Given the description of an element on the screen output the (x, y) to click on. 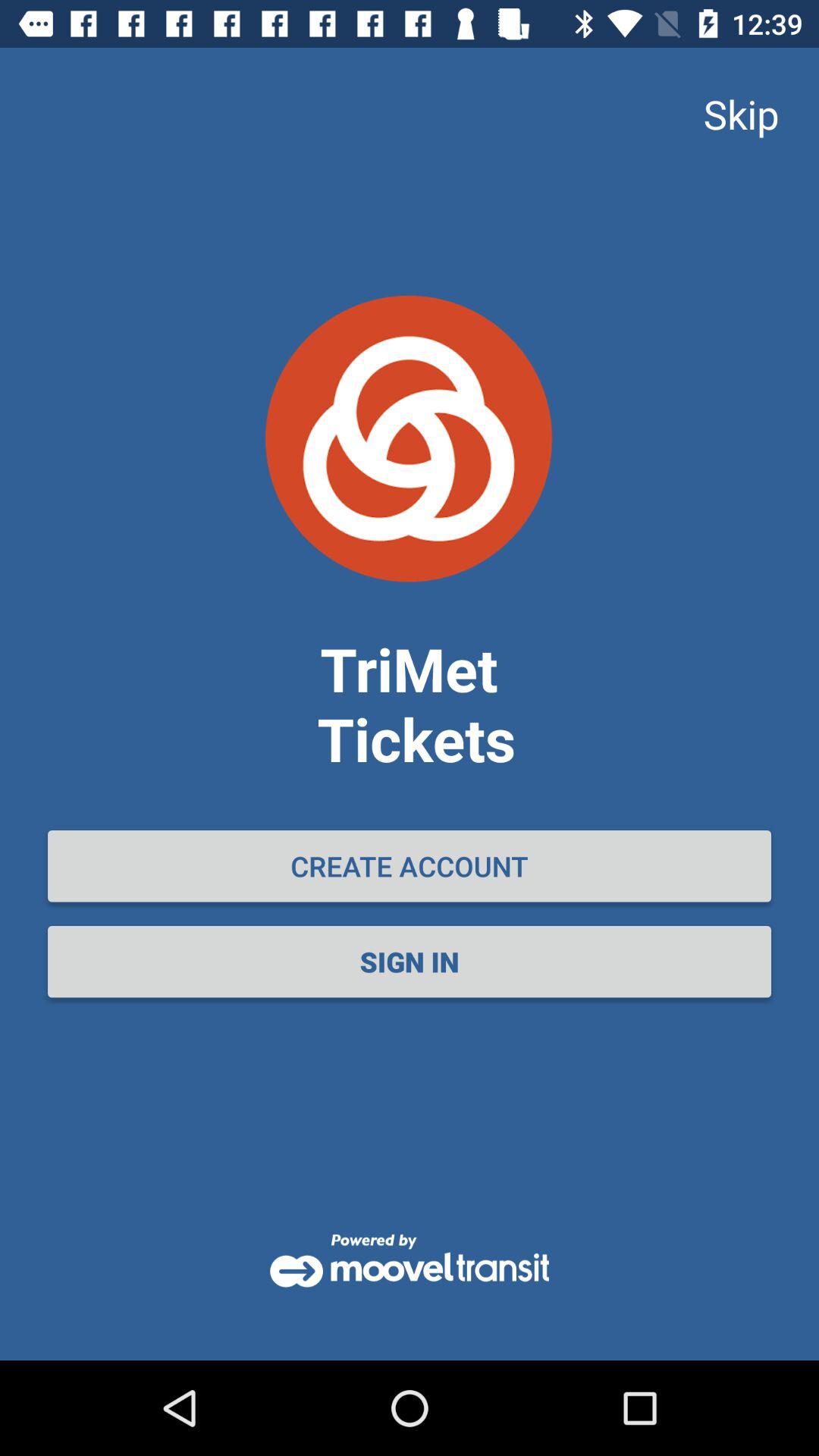
choose the create account icon (409, 865)
